Given the description of an element on the screen output the (x, y) to click on. 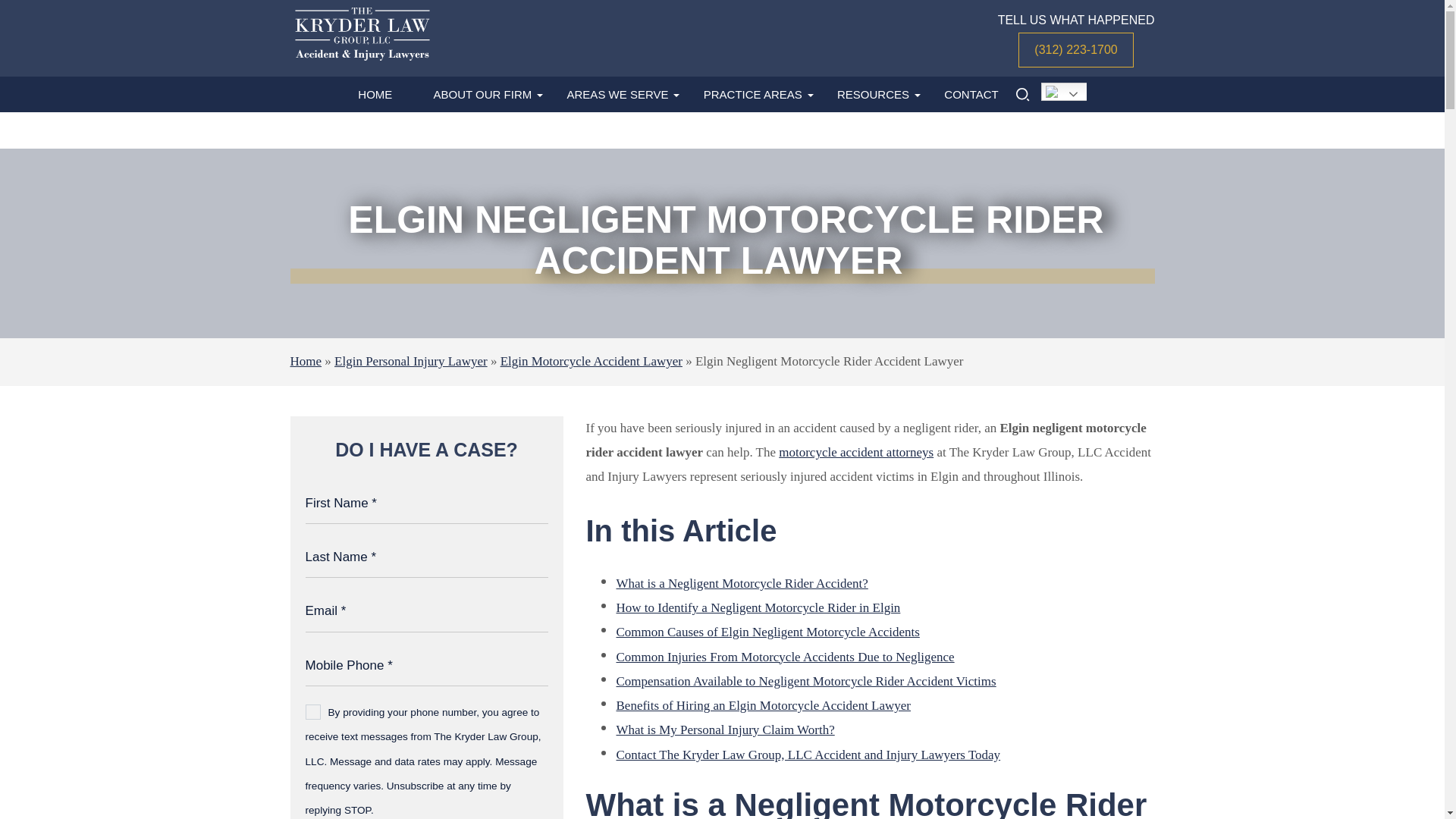
Common Injuries From Motorcycle Accidents Due to Negligence (784, 657)
How to Identify a Negligent Motorcycle Rider in Elgin (757, 607)
What is a Negligent Motorcycle Rider Accident? (741, 583)
HOME (374, 93)
AREAS WE SERVE (617, 93)
ABOUT OUR FIRM (482, 93)
What is My Personal Injury Claim Worth? (724, 729)
Benefits of Hiring an Elgin Motorcycle Accident Lawyer (763, 705)
